Given the description of an element on the screen output the (x, y) to click on. 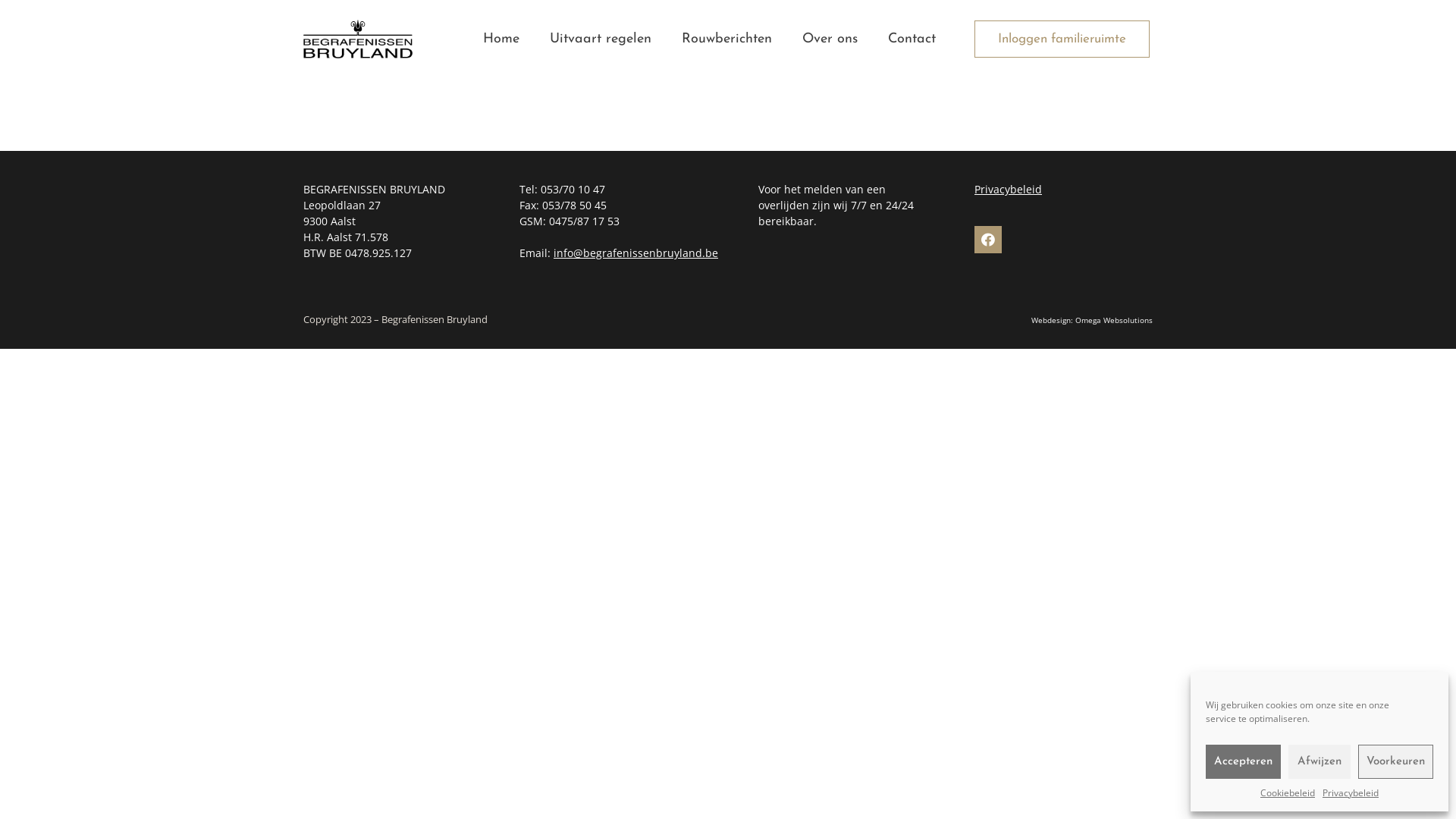
Privacybeleid Element type: text (1350, 793)
Inloggen familieruimte Element type: text (1061, 38)
Home Element type: text (500, 38)
Privacybeleid Element type: text (1007, 189)
Rouwberichten Element type: text (726, 38)
Voorkeuren Element type: text (1395, 761)
Over ons Element type: text (829, 38)
Webdesign: Omega Websolutions Element type: text (1091, 319)
Accepteren Element type: text (1242, 761)
Uitvaart regelen Element type: text (600, 38)
info@begrafenissenbruyland.be Element type: text (635, 252)
Cookiebeleid Element type: text (1287, 793)
Contact Element type: text (911, 38)
Afwijzen Element type: text (1319, 761)
